Given the description of an element on the screen output the (x, y) to click on. 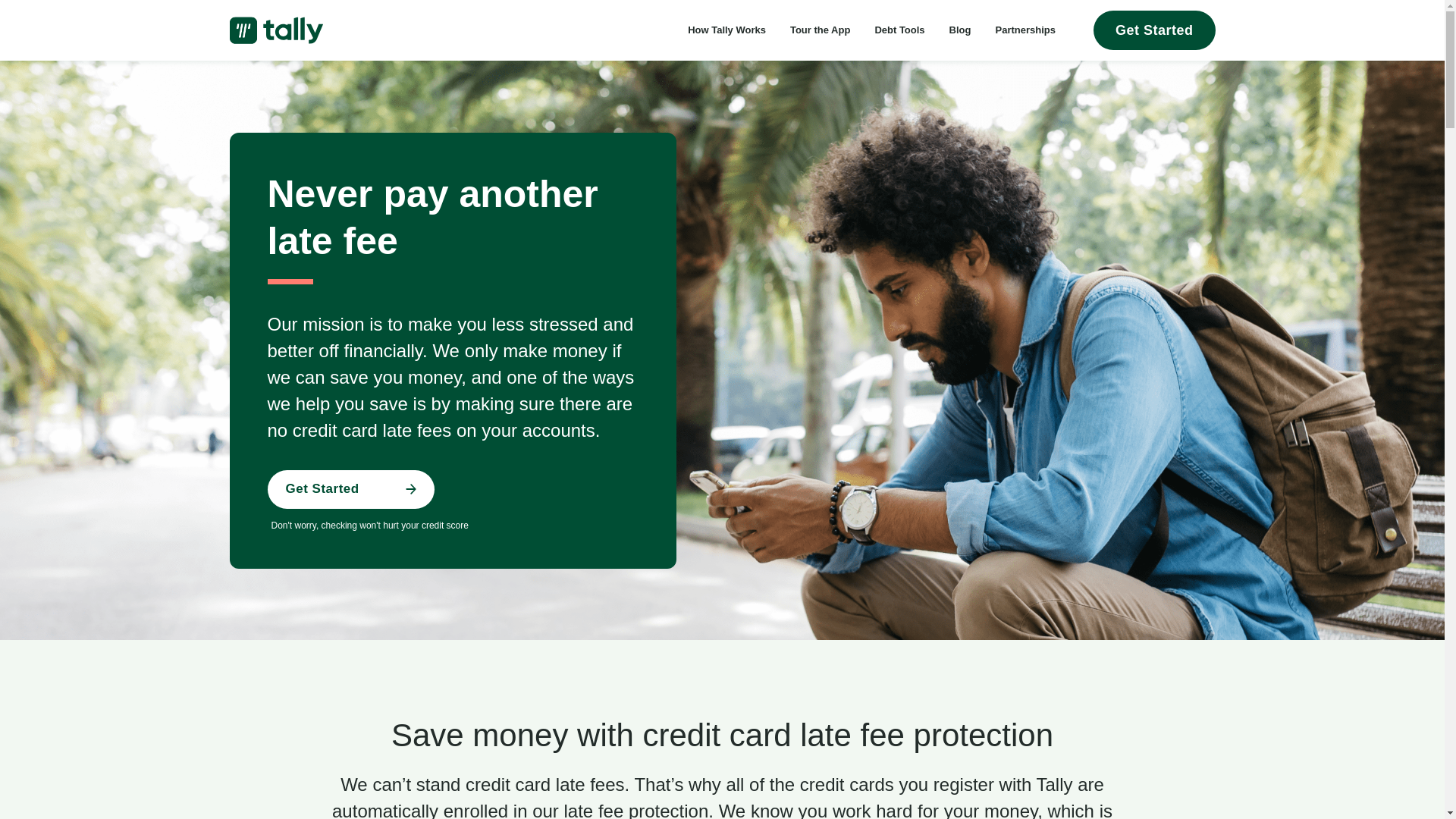
Tour the App (820, 30)
Get Started (349, 489)
How Tally Works (726, 30)
Partnerships (1024, 30)
Blog (960, 30)
Get Started (1154, 29)
